Given the description of an element on the screen output the (x, y) to click on. 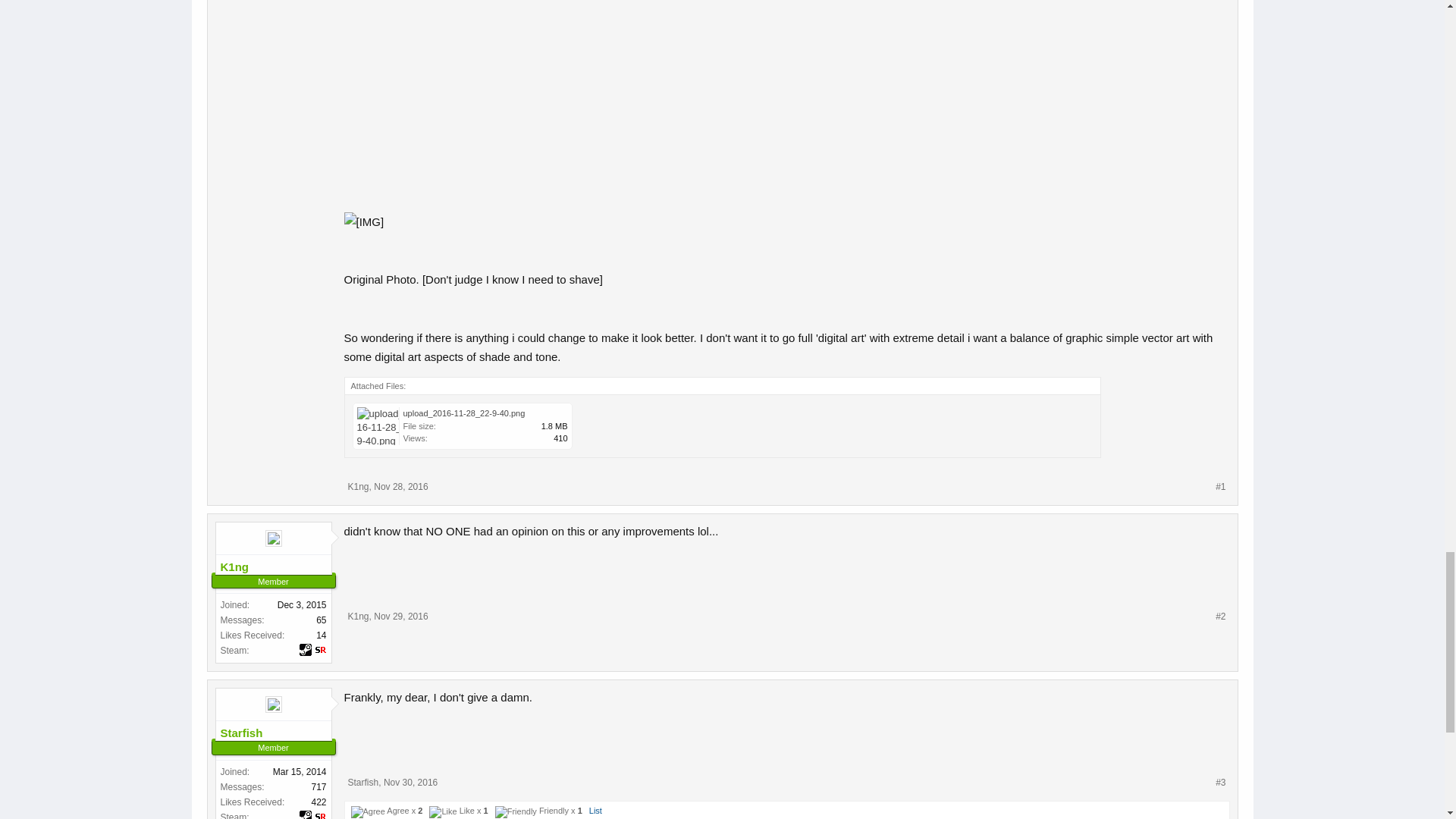
Friendly (516, 811)
K1ng (357, 486)
K1ng (272, 566)
Starfish (272, 733)
Nov 30, 2016 (411, 782)
Nov 29, 2016 (401, 615)
65 (320, 620)
Like (443, 811)
Nov 28, 2016 (401, 486)
717 (318, 787)
